Given the description of an element on the screen output the (x, y) to click on. 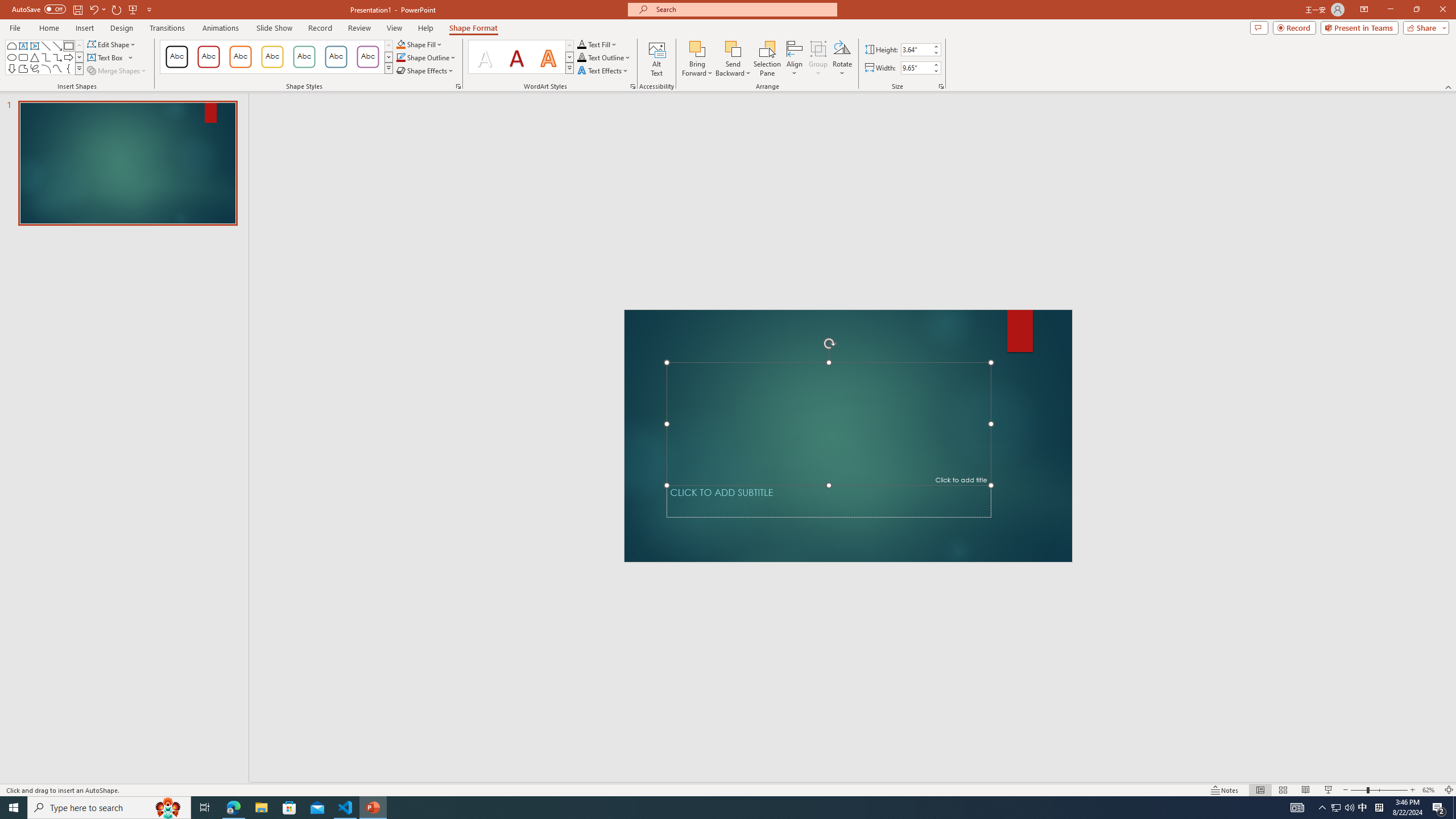
Text Effects (603, 69)
Colored Outline - Green, Accent 4 (304, 56)
